Given the description of an element on the screen output the (x, y) to click on. 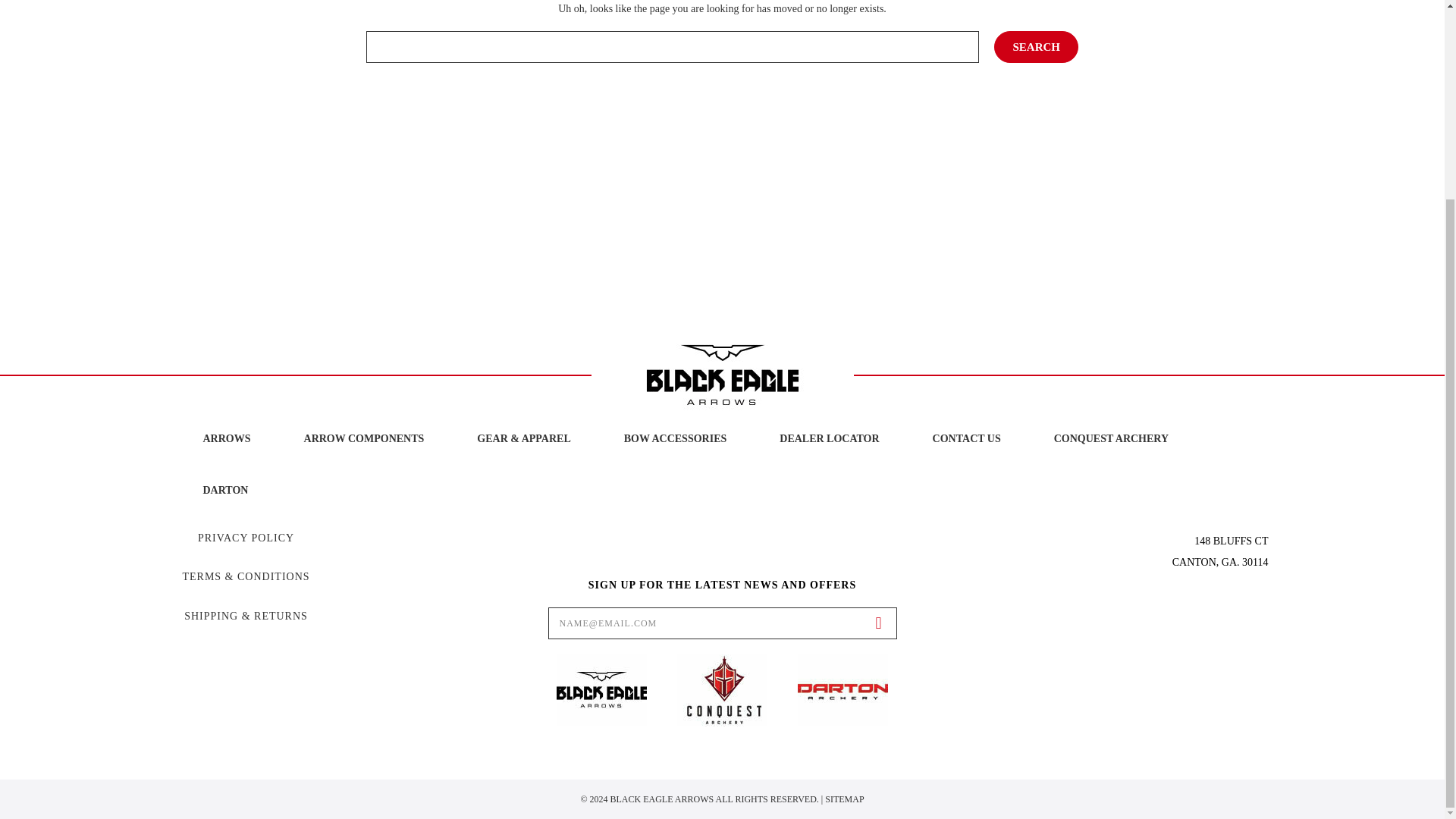
Search (1036, 47)
Black Eagle Arrows (722, 375)
